Given the description of an element on the screen output the (x, y) to click on. 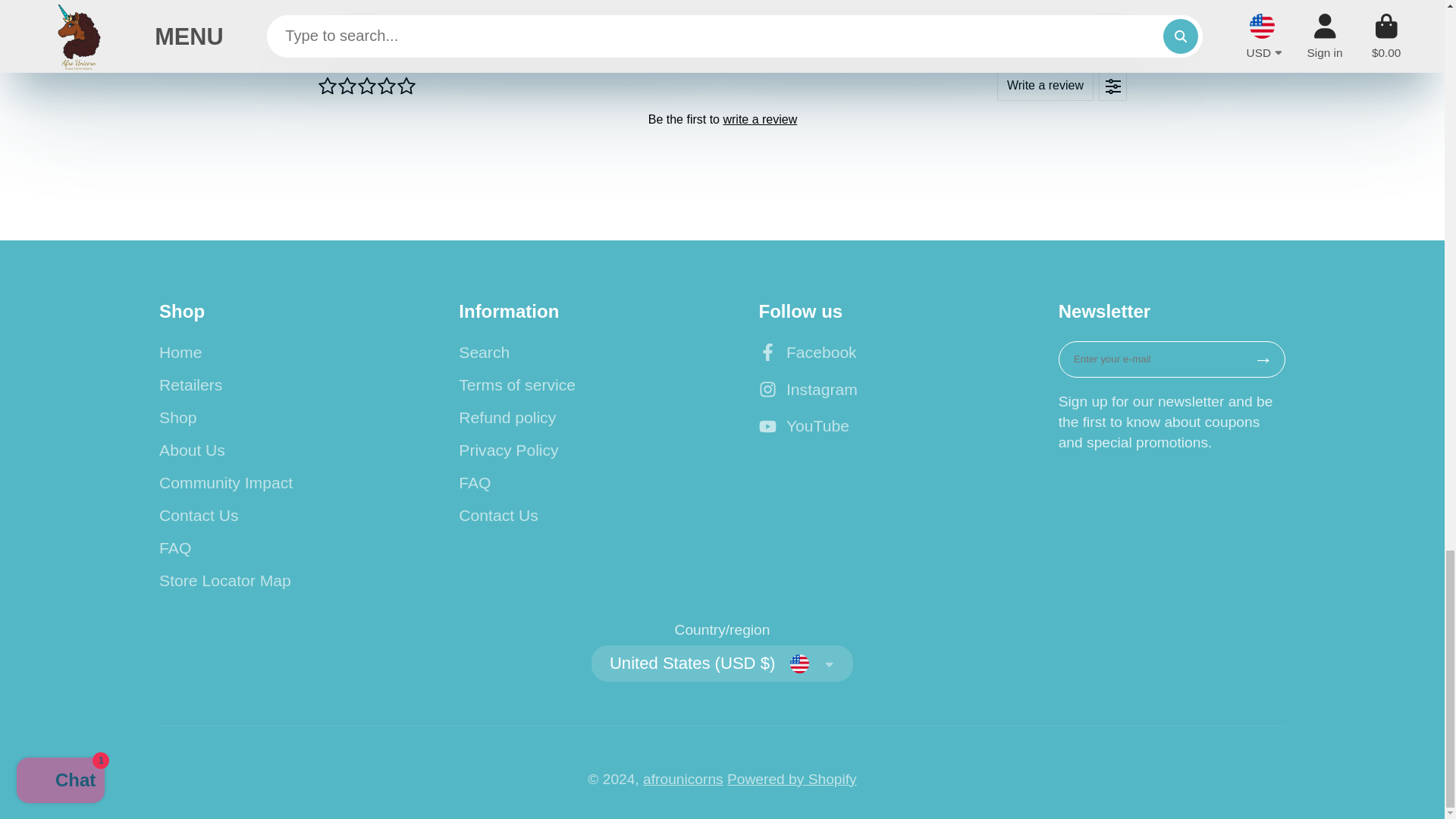
Contact Us (271, 515)
Refund policy (571, 417)
Search (571, 352)
Shop (271, 417)
Terms of service (571, 384)
Retailers (271, 384)
Product reviews widget (722, 118)
Home (271, 352)
Community Impact (271, 482)
About Us (271, 449)
Store Locator Map (271, 580)
FAQ (271, 548)
